Given the description of an element on the screen output the (x, y) to click on. 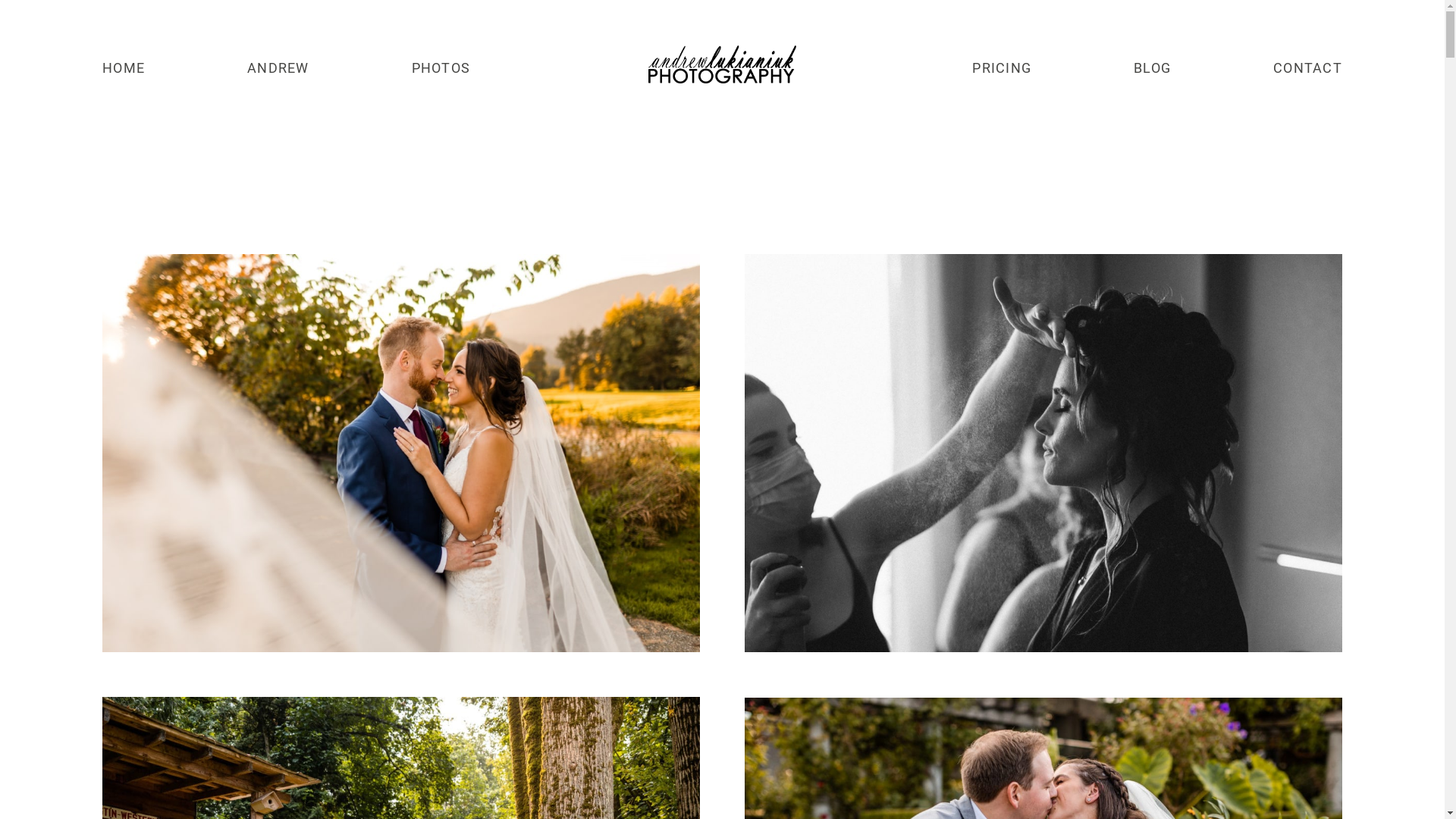
PHOTOS Element type: text (440, 67)
ANDREW Element type: text (278, 67)
PRICING Element type: text (1001, 67)
BLOG Element type: text (1151, 67)
HOME Element type: text (123, 67)
CONTACT Element type: text (1307, 67)
